Given the description of an element on the screen output the (x, y) to click on. 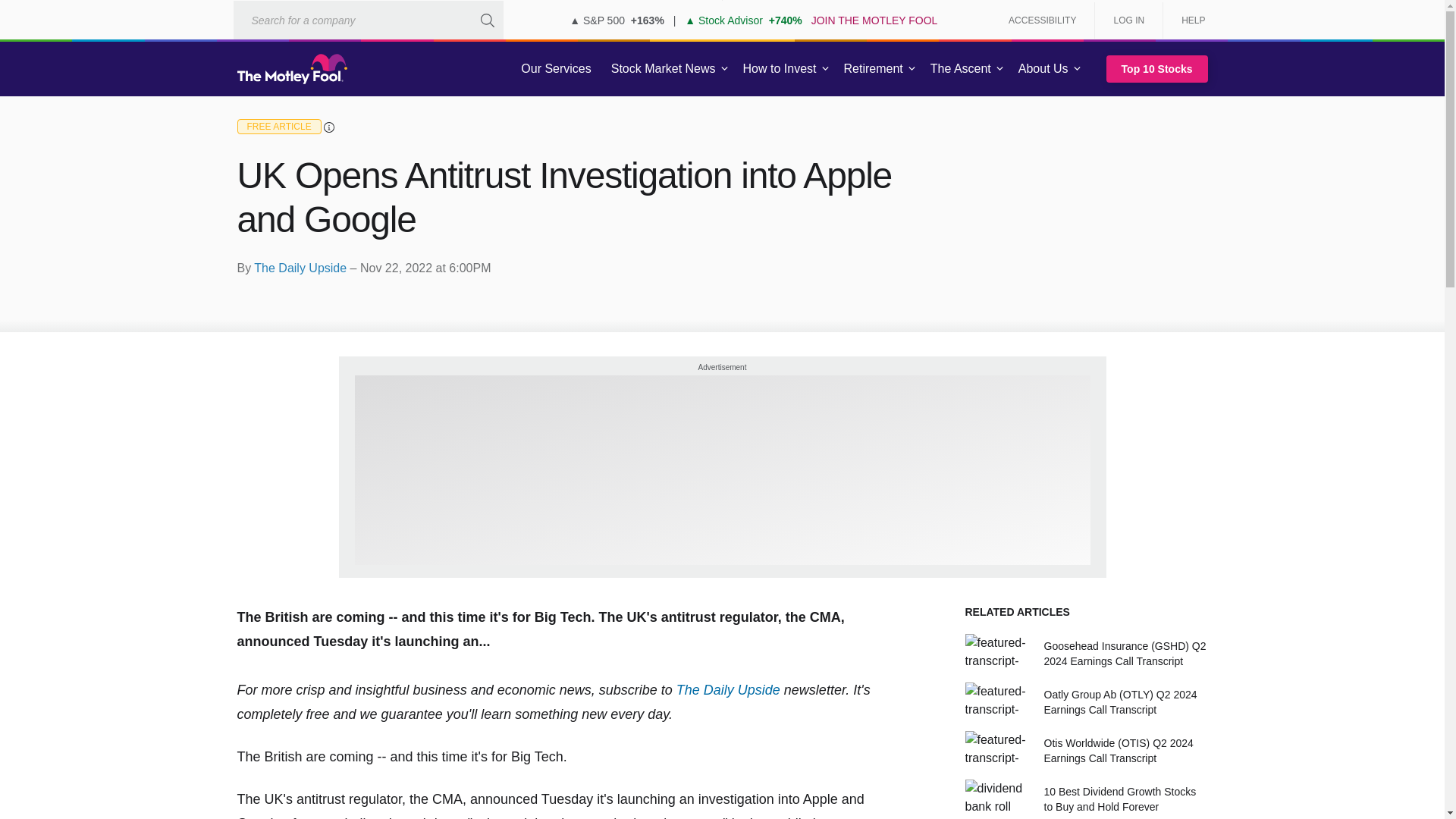
How to Invest (779, 68)
Our Services (555, 68)
Stock Market News (662, 68)
LOG IN (1128, 19)
HELP (1187, 19)
ACCESSIBILITY (1042, 19)
